Given the description of an element on the screen output the (x, y) to click on. 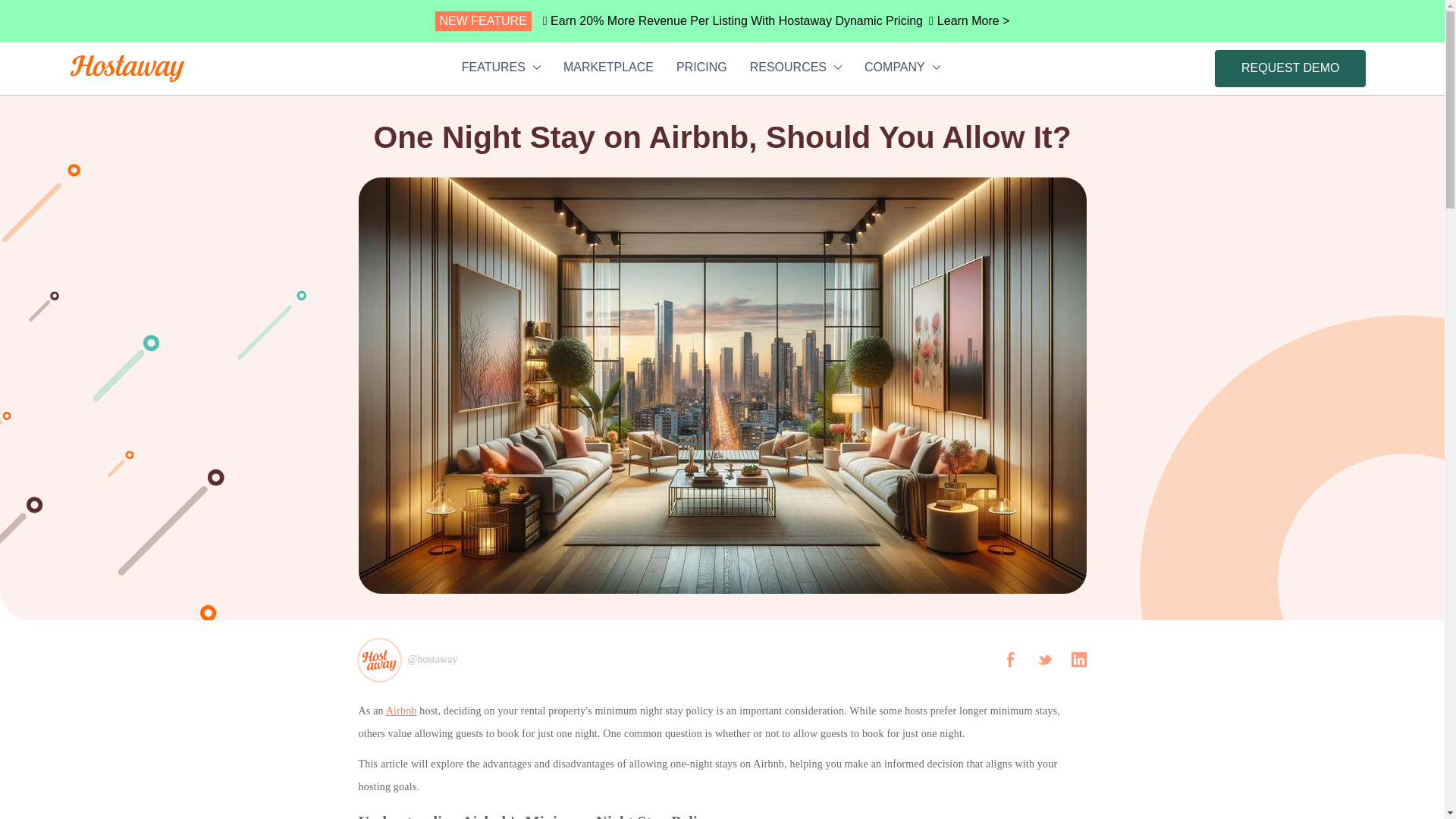
MARKETPLACE (608, 66)
FEATURES (500, 66)
Airbnb (400, 710)
PRICING (701, 66)
REQUEST DEMO (1290, 67)
